Given the description of an element on the screen output the (x, y) to click on. 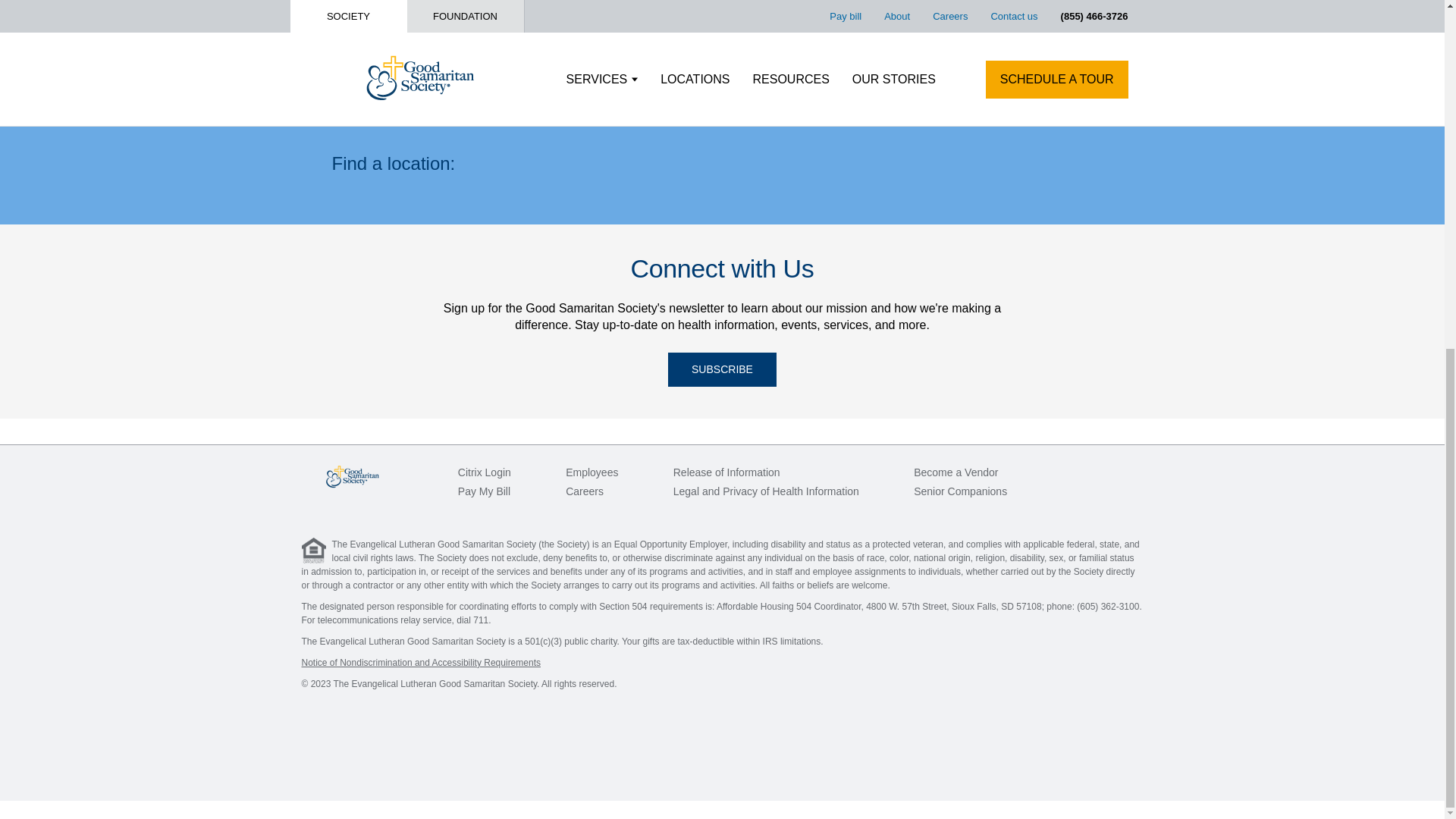
SUBSCRIBE (722, 369)
youtube link (1133, 472)
facebook link (1070, 472)
Citrix Login (484, 472)
linkedin link (1102, 472)
House (313, 550)
